Given the description of an element on the screen output the (x, y) to click on. 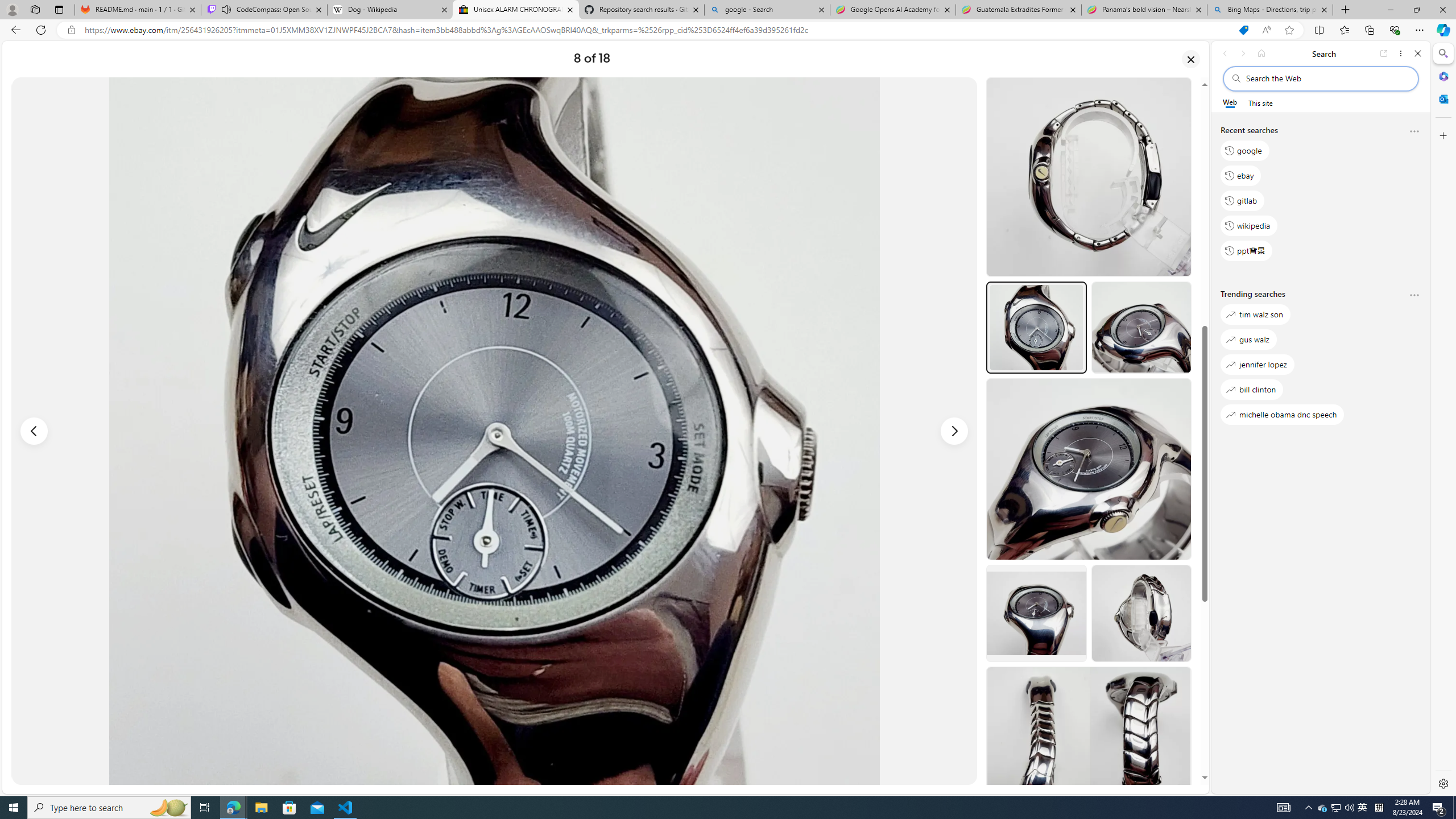
google (1244, 150)
bill clinton (1252, 389)
